Given the description of an element on the screen output the (x, y) to click on. 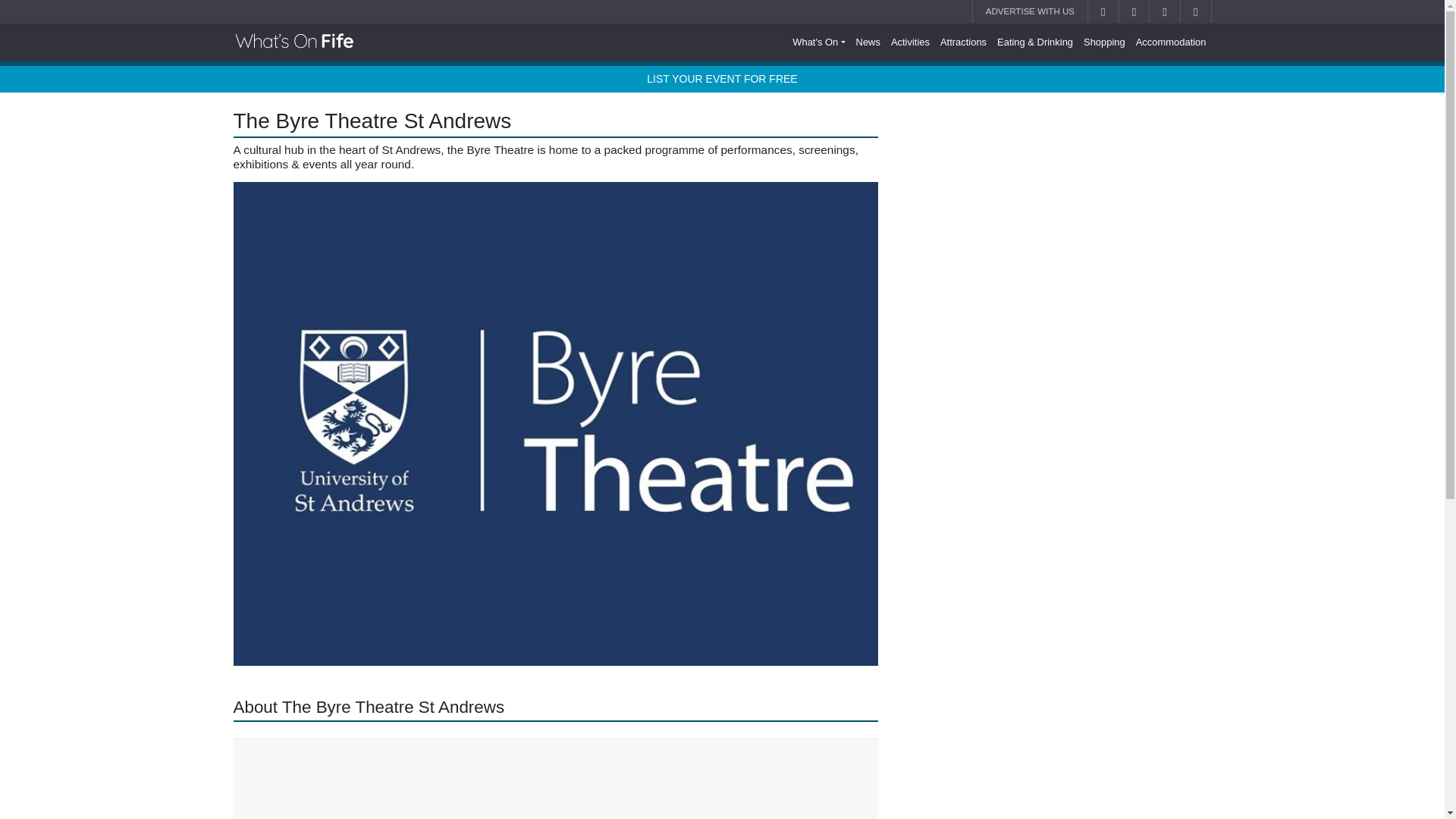
Activities in Fife (909, 41)
LIST YOUR EVENT FOR FREE (721, 78)
What's On (818, 41)
ADVERTISE WITH US (1029, 11)
Attractions (962, 41)
Activities (909, 41)
Advertise on What's On Fife (1029, 11)
Fife News (867, 41)
Events in Fife (818, 41)
Shopping (1104, 41)
